Given the description of an element on the screen output the (x, y) to click on. 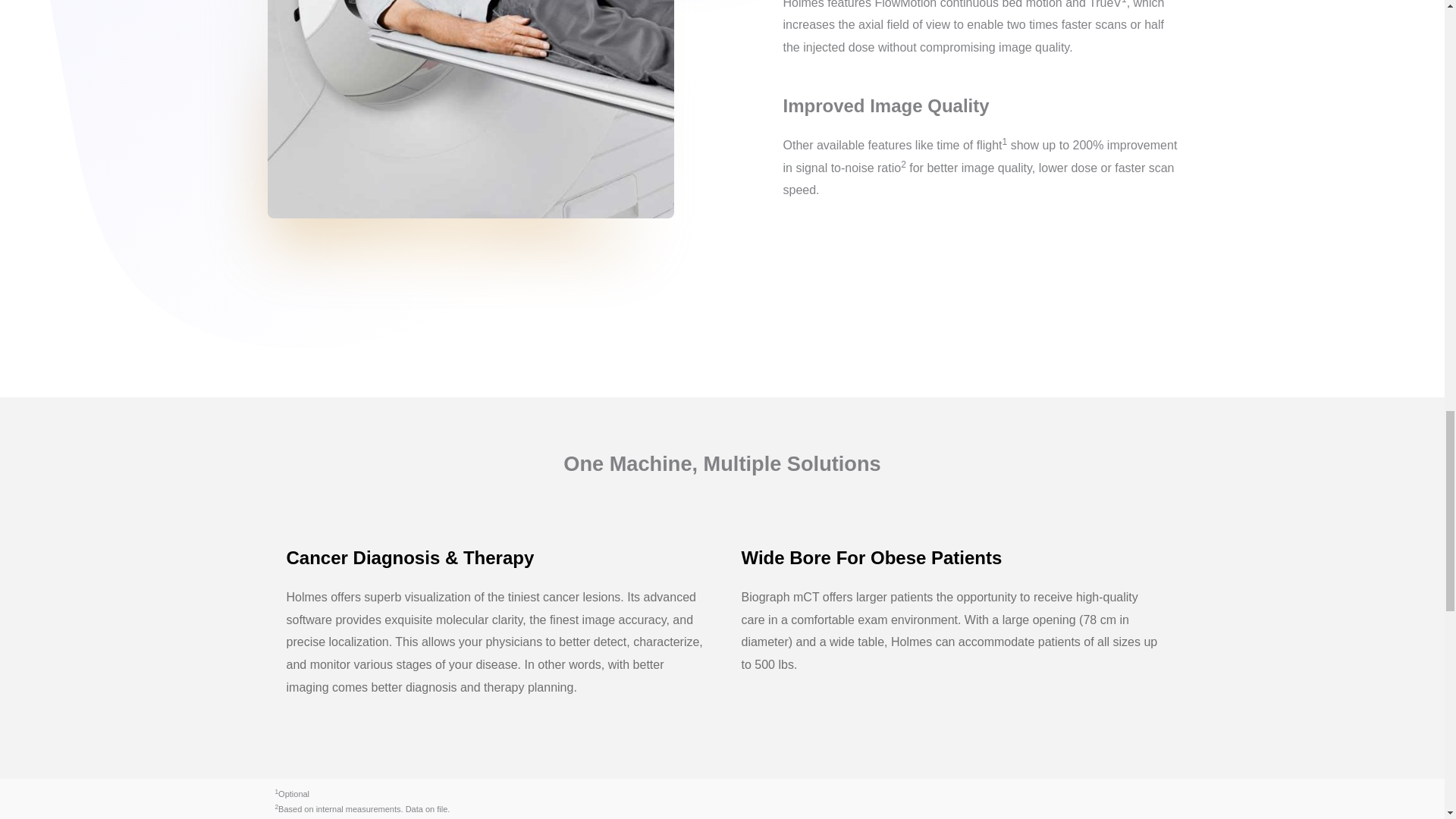
siemens-bore (469, 109)
